Given the description of an element on the screen output the (x, y) to click on. 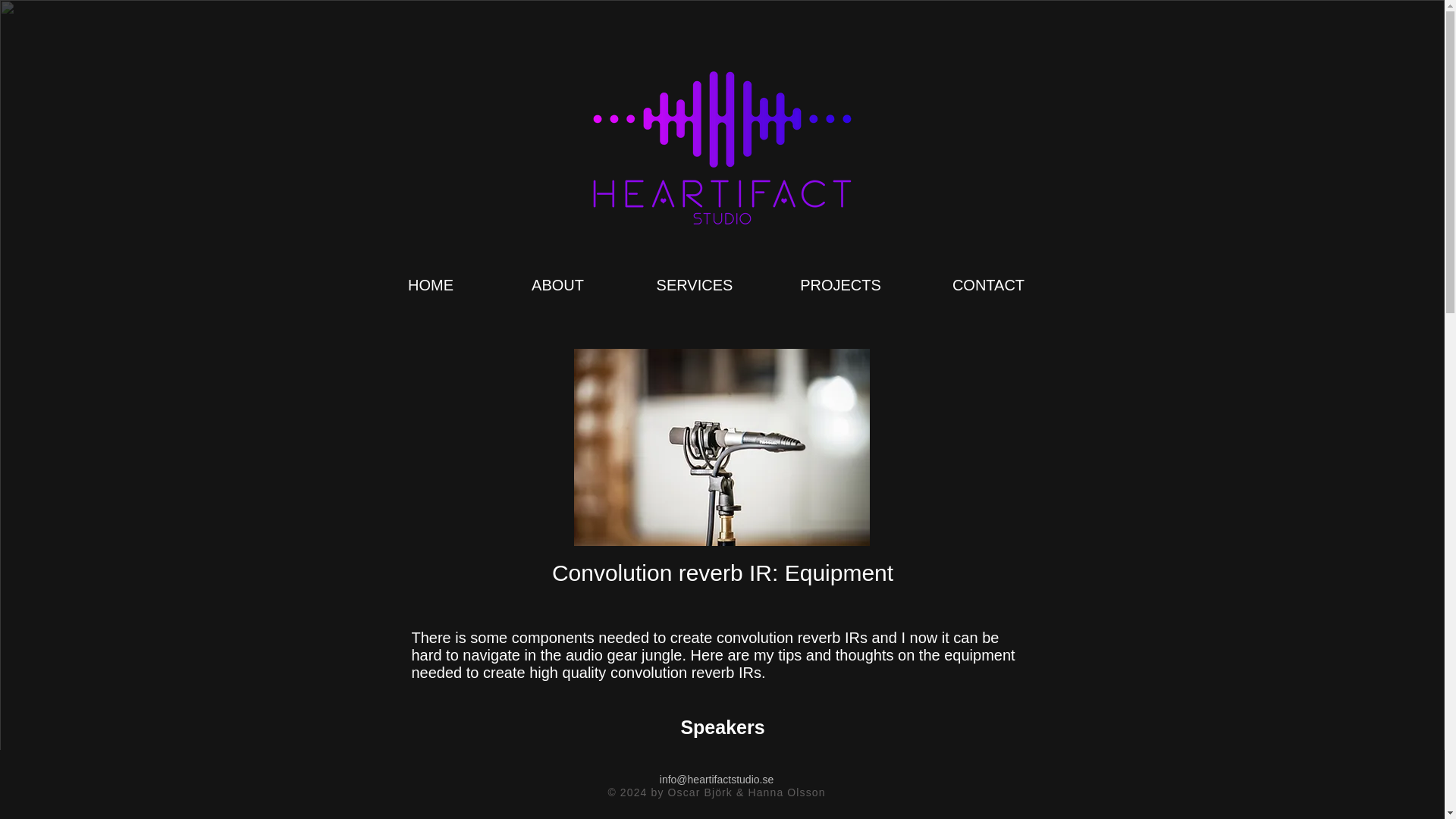
CONTACT (988, 278)
HOME (430, 278)
PROJECTS (840, 278)
ABOUT (557, 278)
